Given the description of an element on the screen output the (x, y) to click on. 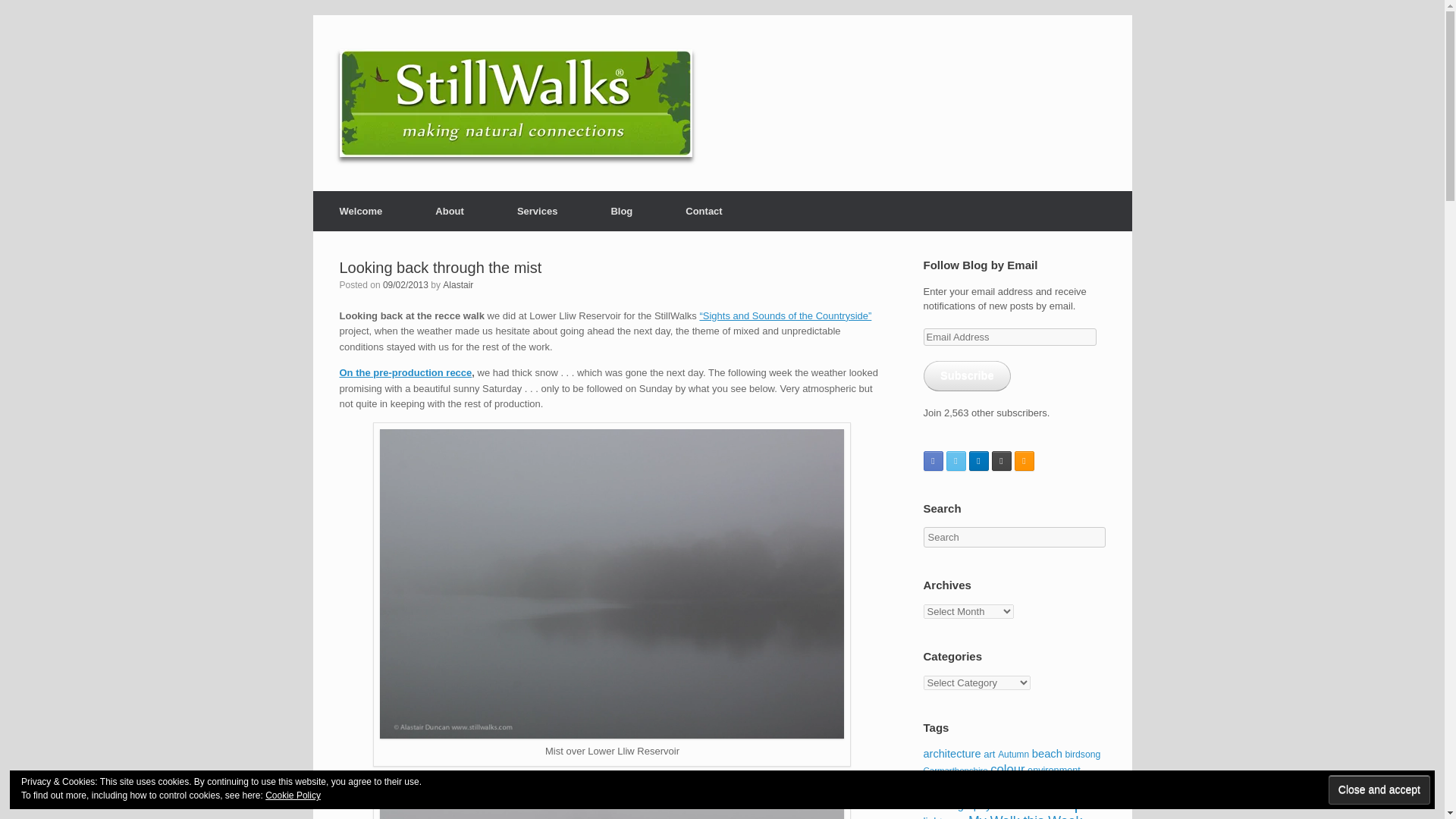
projects (784, 315)
Services (537, 210)
About (449, 210)
Close and accept (1378, 789)
Blog (621, 210)
Alastair (457, 285)
Mist over the dam (612, 807)
recce walk (405, 372)
11:16 am (405, 285)
Contact (703, 210)
StillWalks (516, 103)
On the pre-production recce (405, 372)
Welcome (361, 210)
View all posts by Alastair (457, 285)
